Given the description of an element on the screen output the (x, y) to click on. 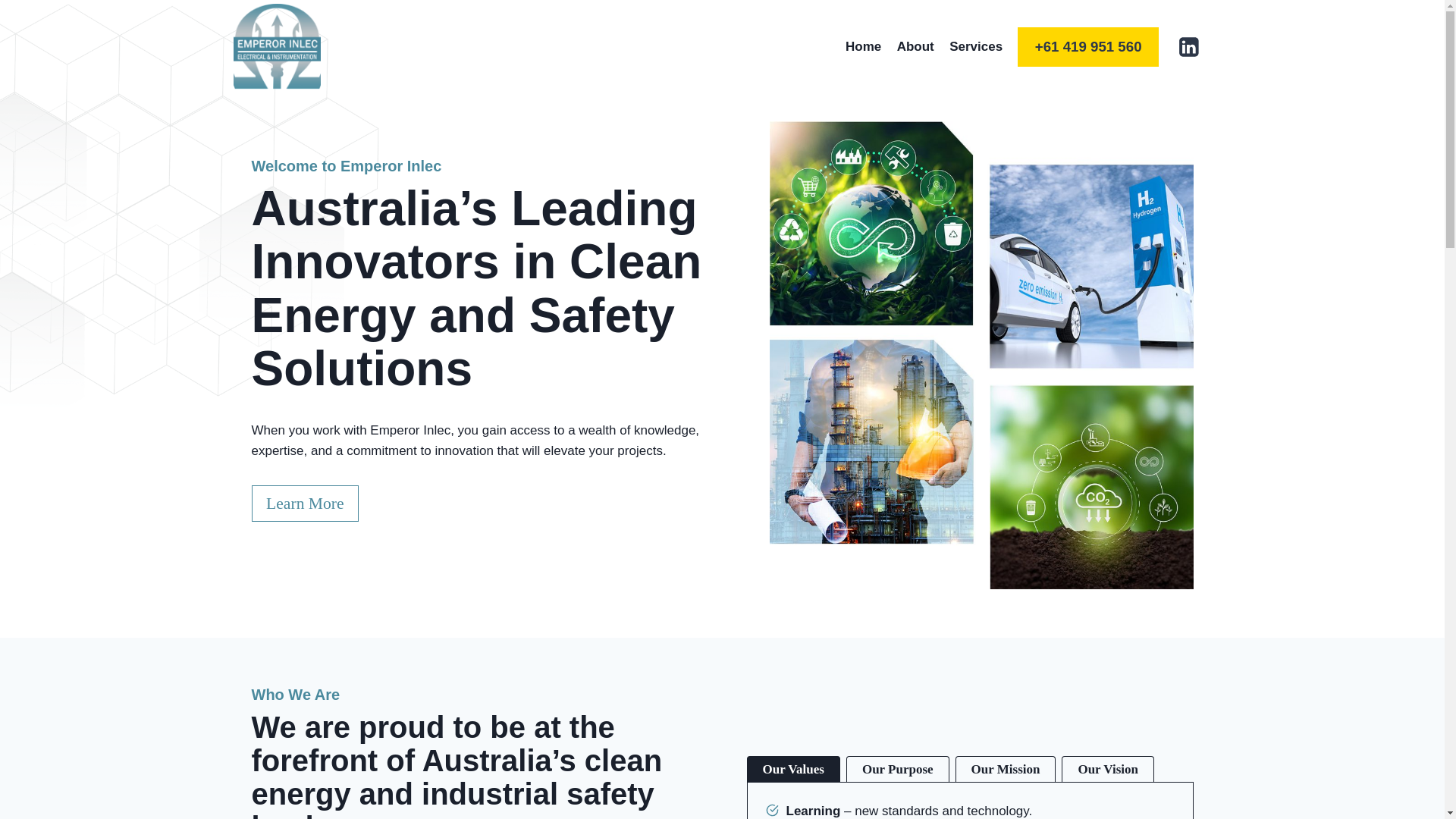
Services Element type: text (975, 46)
+61 419 951 560 Element type: text (1087, 46)
Home Element type: text (863, 46)
Our Mission Element type: text (1005, 769)
Learn More Element type: text (305, 503)
About Element type: text (914, 46)
Our Vision Element type: text (1107, 769)
Our Values Element type: text (792, 769)
Our Purpose Element type: text (897, 769)
